Given the description of an element on the screen output the (x, y) to click on. 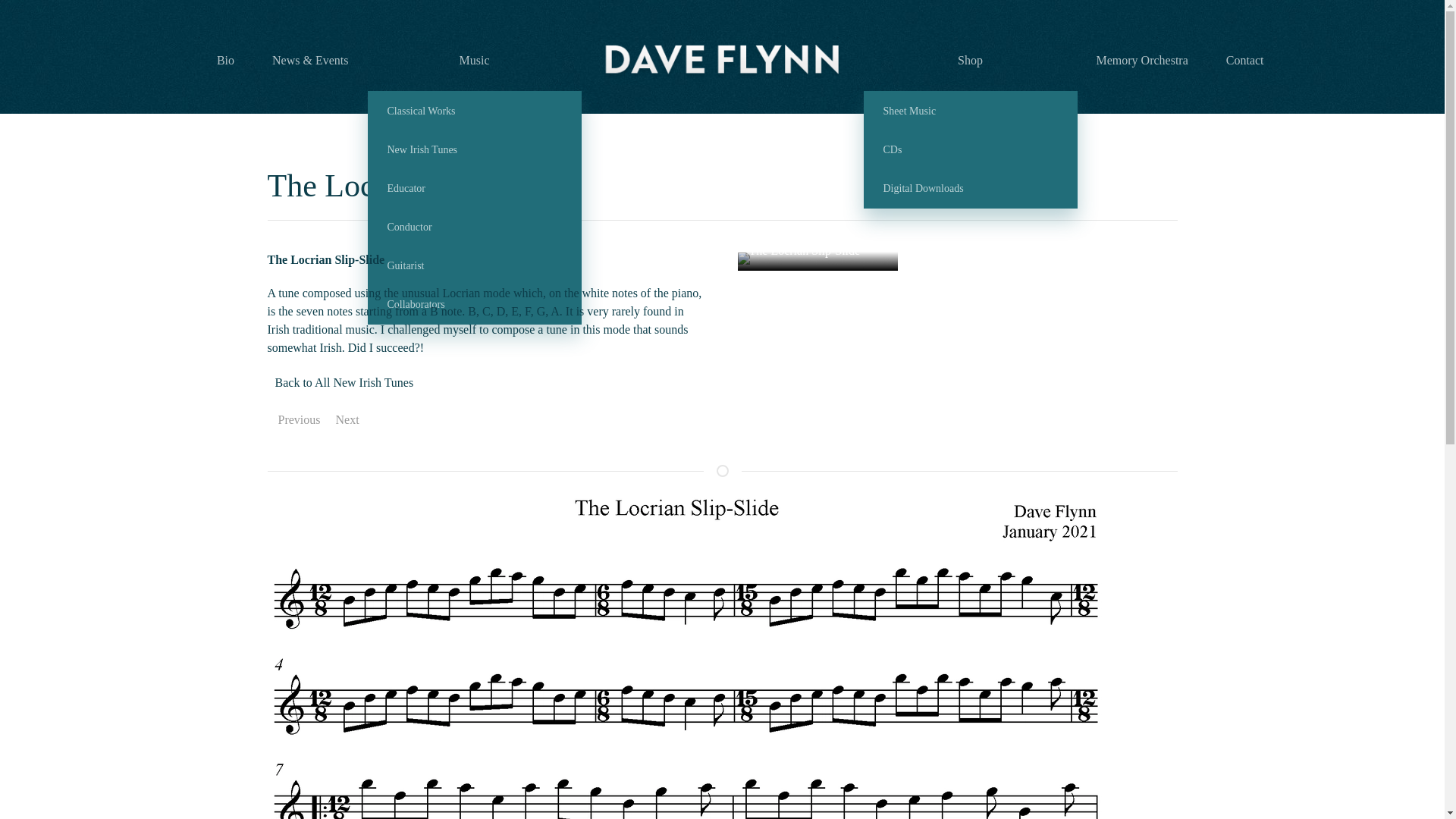
Digital Downloads (970, 188)
Sheet Music (970, 110)
Bio (225, 60)
Conductor (474, 227)
Music (473, 60)
Classical Works (474, 110)
Memory Orchestra (1142, 60)
Guitarist (474, 265)
Shop (970, 60)
New Irish Tunes (474, 149)
